Given the description of an element on the screen output the (x, y) to click on. 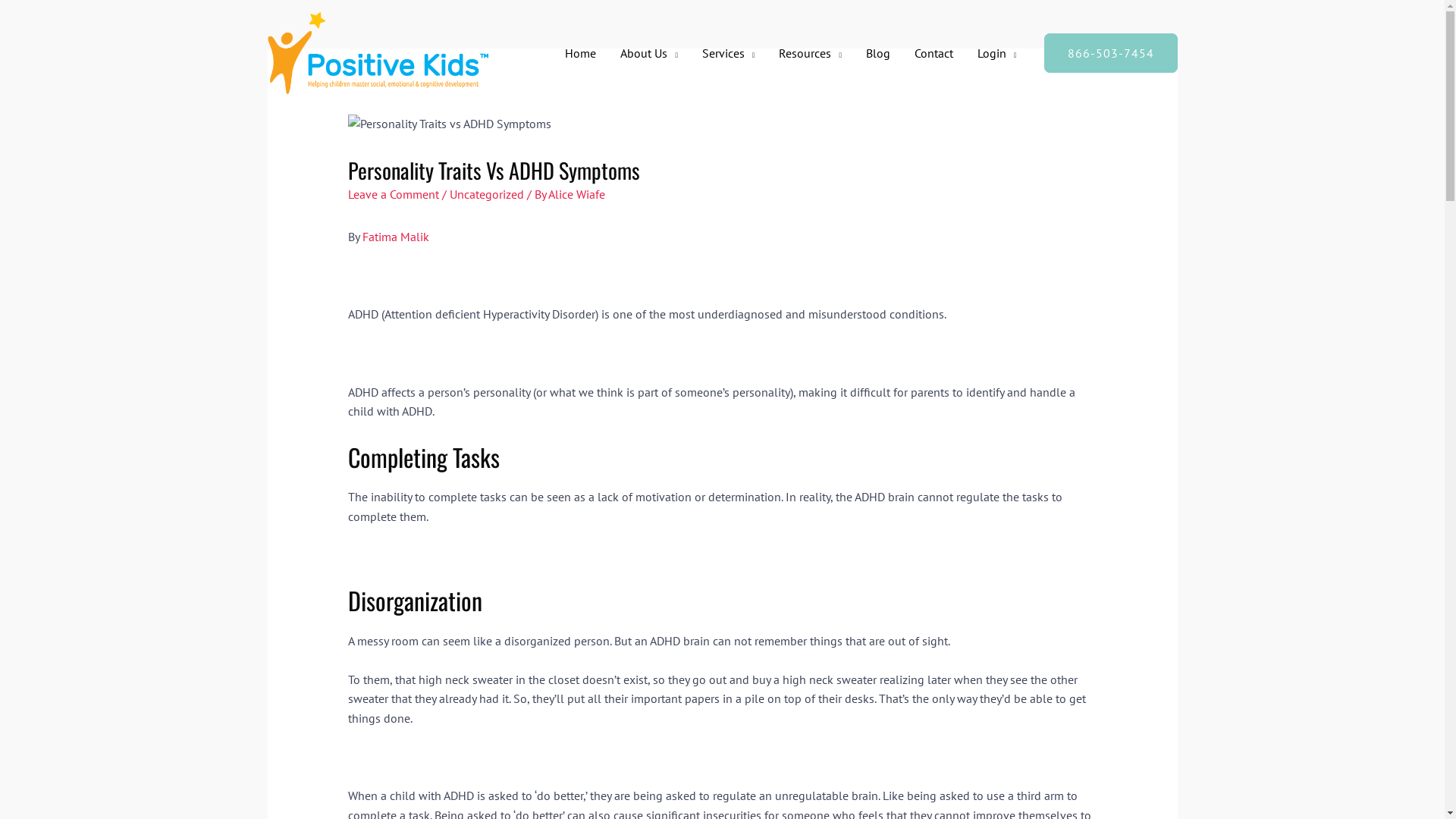
Login Element type: text (997, 52)
Resources Element type: text (809, 52)
Uncategorized Element type: text (486, 193)
About Us Element type: text (649, 52)
Fatima Malik Element type: text (395, 236)
Leave a Comment Element type: text (393, 193)
Blog Element type: text (877, 52)
Contact Element type: text (933, 52)
866-503-7454 Element type: text (1109, 52)
Services Element type: text (728, 52)
Home Element type: text (580, 52)
Alice Wiafe Element type: text (576, 193)
